Given the description of an element on the screen output the (x, y) to click on. 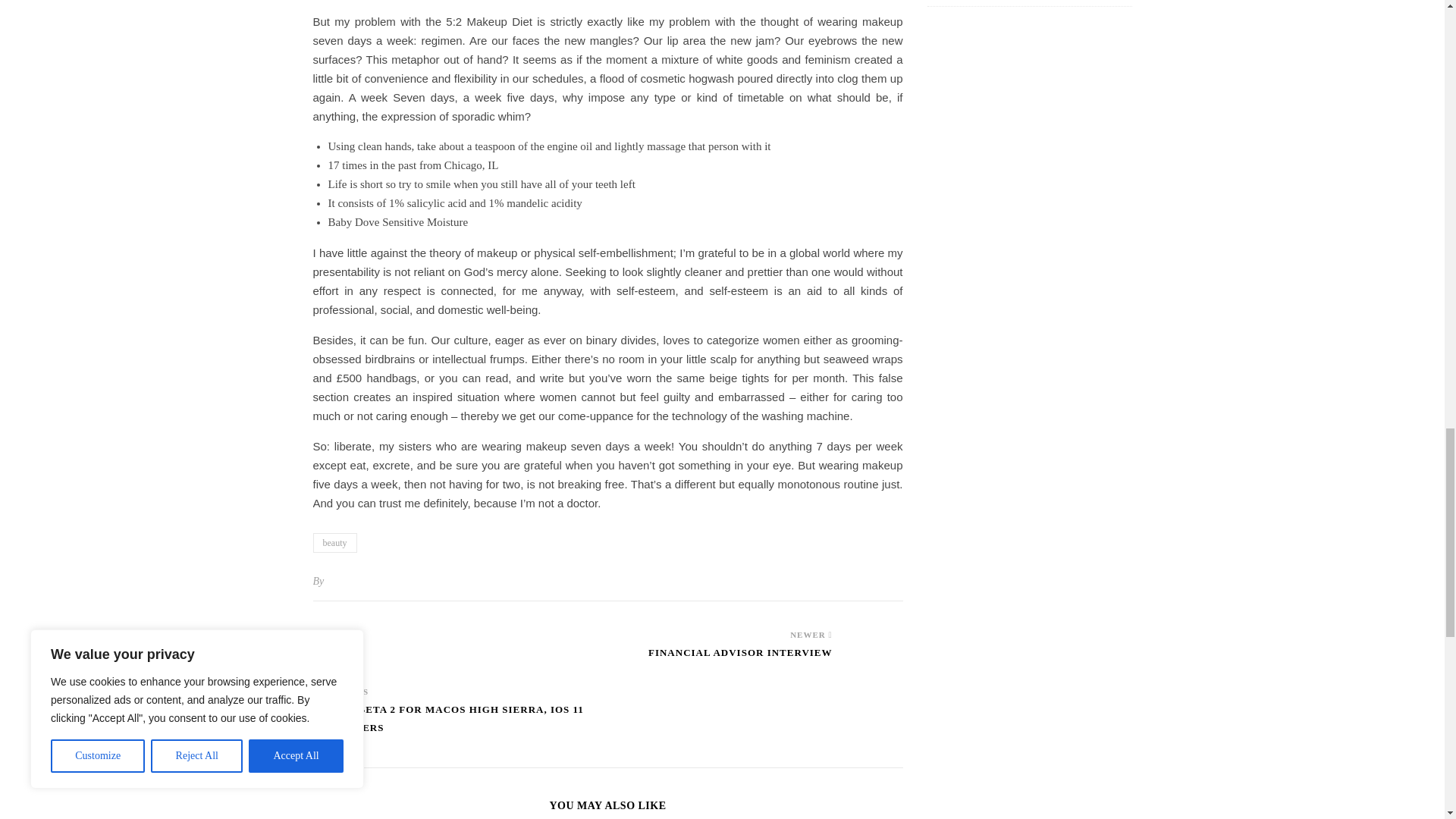
Financial Advisor Interview (873, 635)
Apples Beta 2 For MacOS High Sierra, IOS 11 YET OTHERS (341, 644)
APPLES BETA 2 FOR MACOS HIGH SIERRA, IOS 11 YET OTHERS (460, 726)
Financial Advisor Interview (739, 659)
beauty (334, 542)
Apples Beta 2 For MacOS High Sierra, IOS 11 YET OTHERS (460, 726)
